Given the description of an element on the screen output the (x, y) to click on. 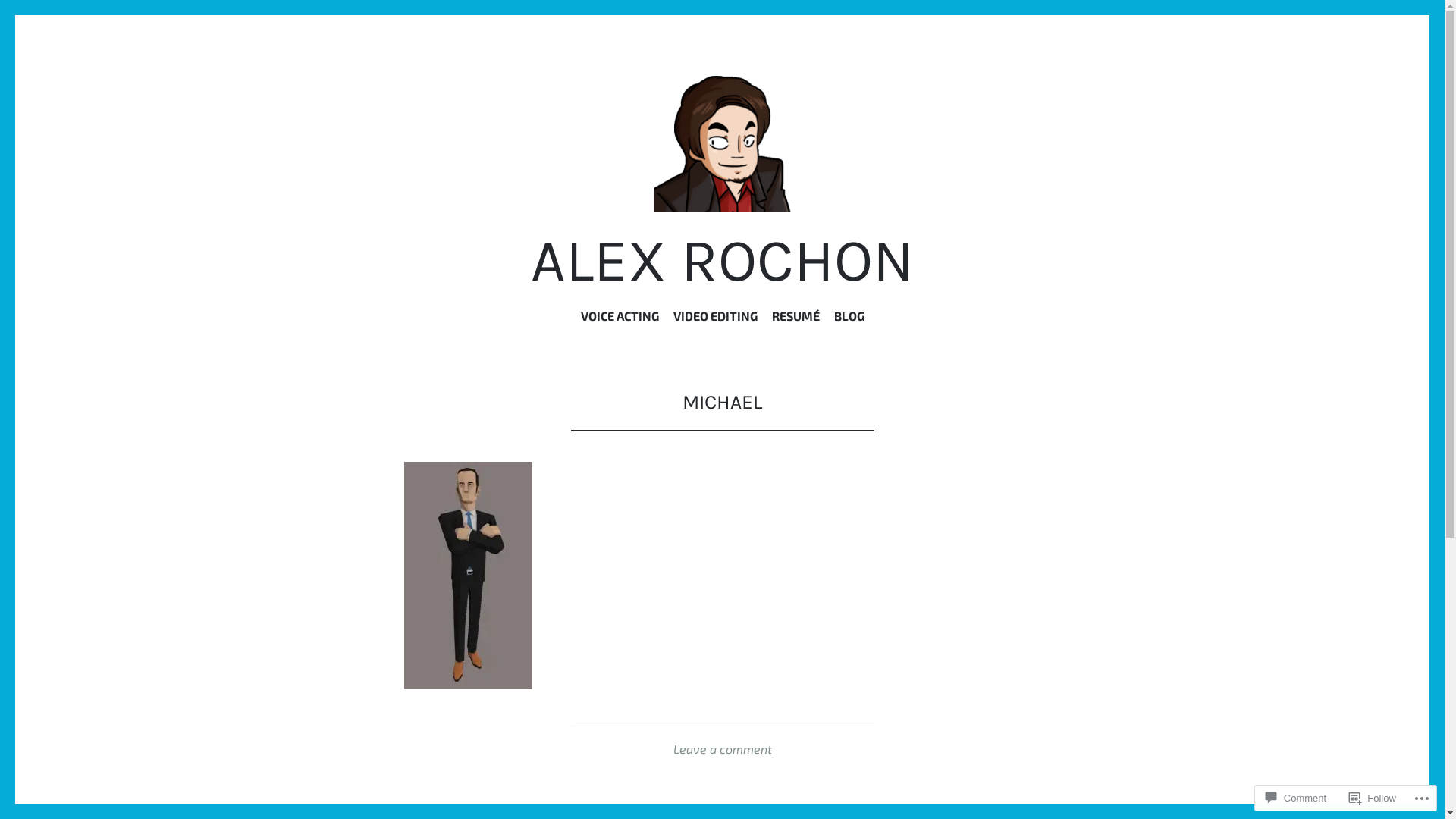
VOICE ACTING Element type: text (619, 318)
VIDEO EDITING Element type: text (715, 318)
Comment Element type: text (1295, 797)
ALEX ROCHON Element type: text (721, 260)
BLOG Element type: text (849, 318)
Leave a comment Element type: text (722, 748)
Follow Element type: text (1372, 797)
